Given the description of an element on the screen output the (x, y) to click on. 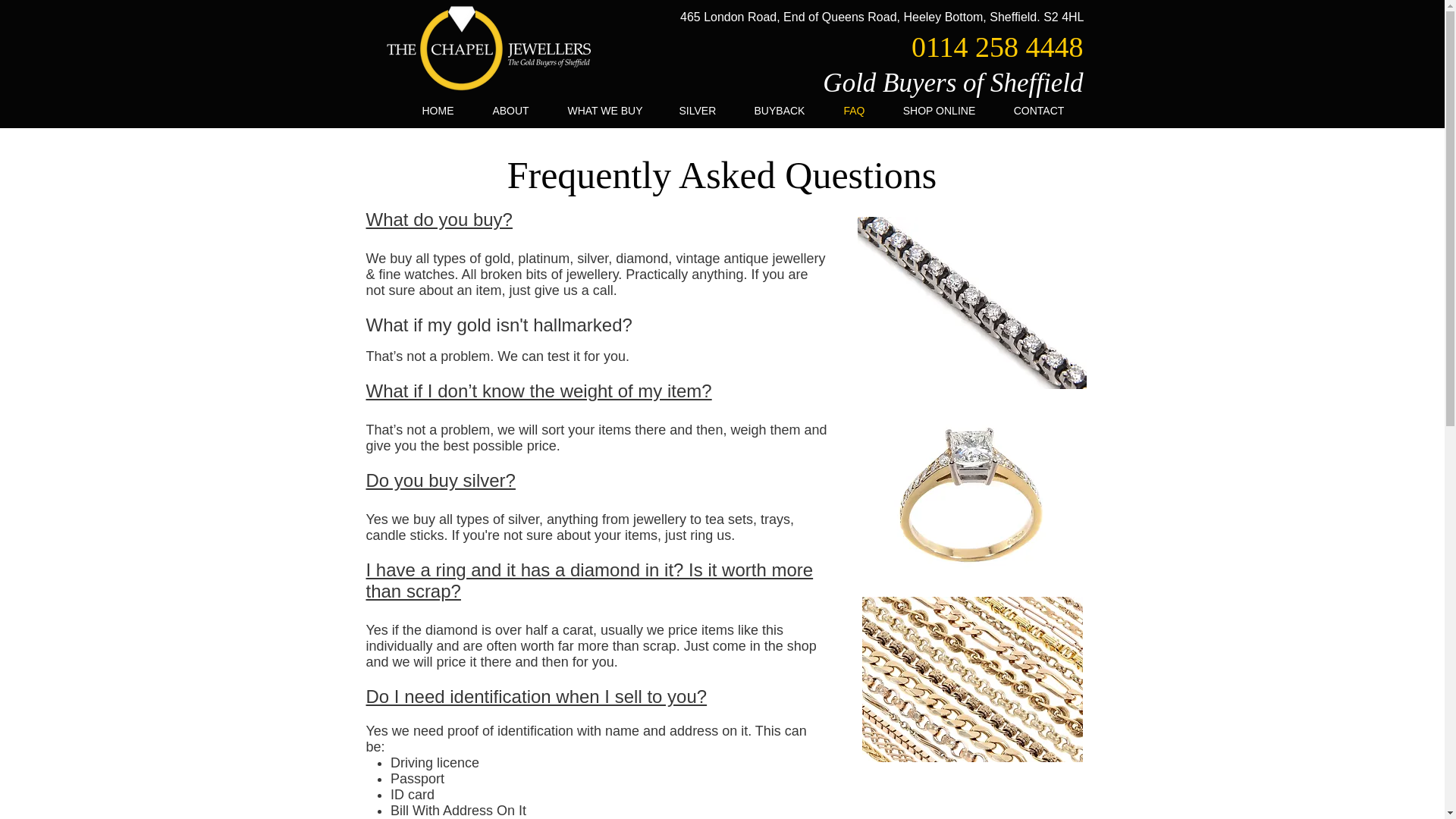
FAQ (854, 110)
SHOP ONLINE (938, 110)
BUYBACK (778, 110)
ABOUT (510, 110)
HOME (438, 110)
WHAT WE BUY (604, 110)
CONTACT (1038, 110)
SILVER (696, 110)
